Given the description of an element on the screen output the (x, y) to click on. 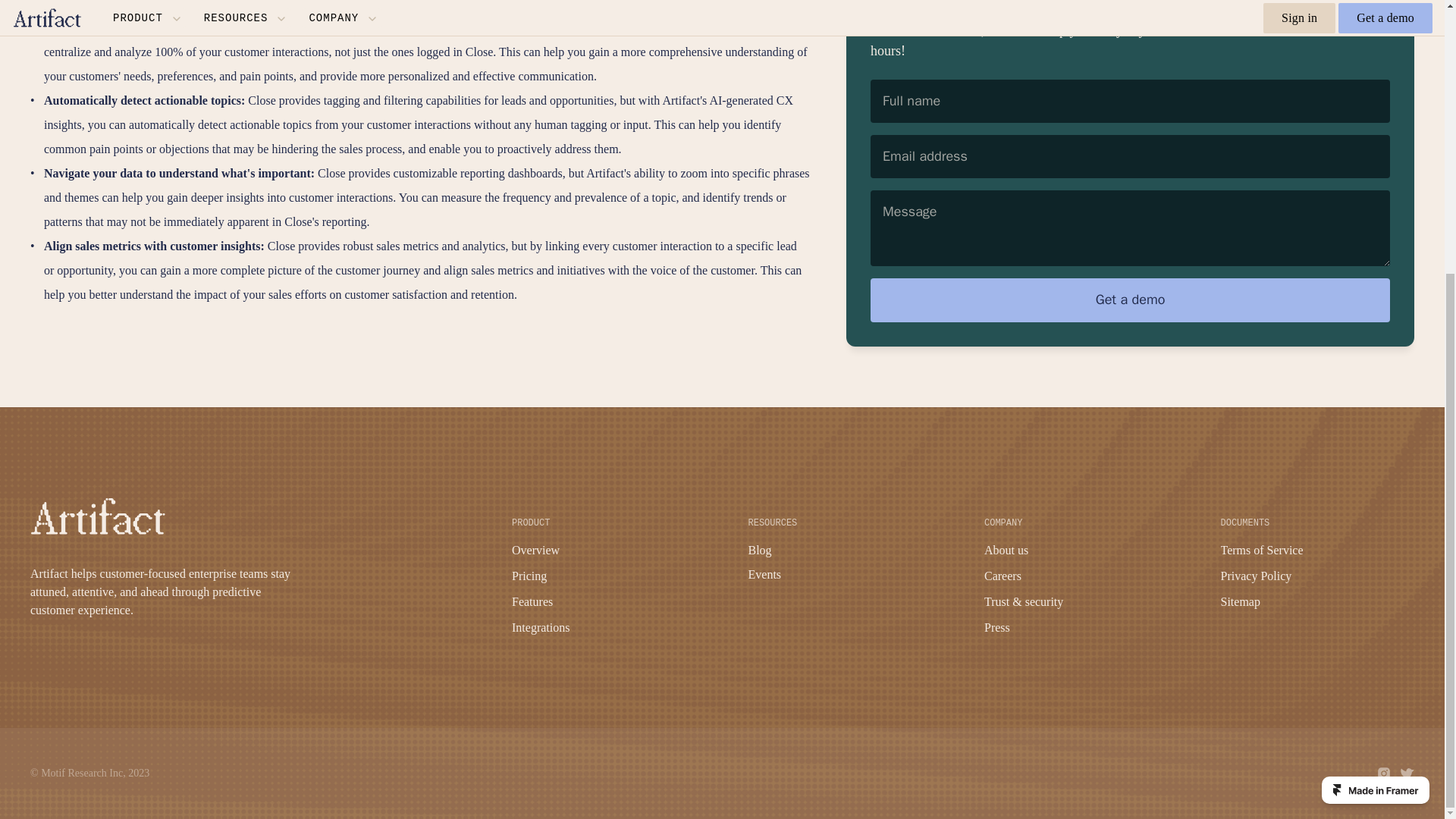
Sitemap (1240, 601)
Press (997, 626)
Integrations (540, 626)
Careers (1003, 575)
About us (1005, 549)
Get a demo (1130, 205)
Pricing (529, 575)
Get a demo (1130, 205)
Features (532, 601)
Events (764, 574)
